Given the description of an element on the screen output the (x, y) to click on. 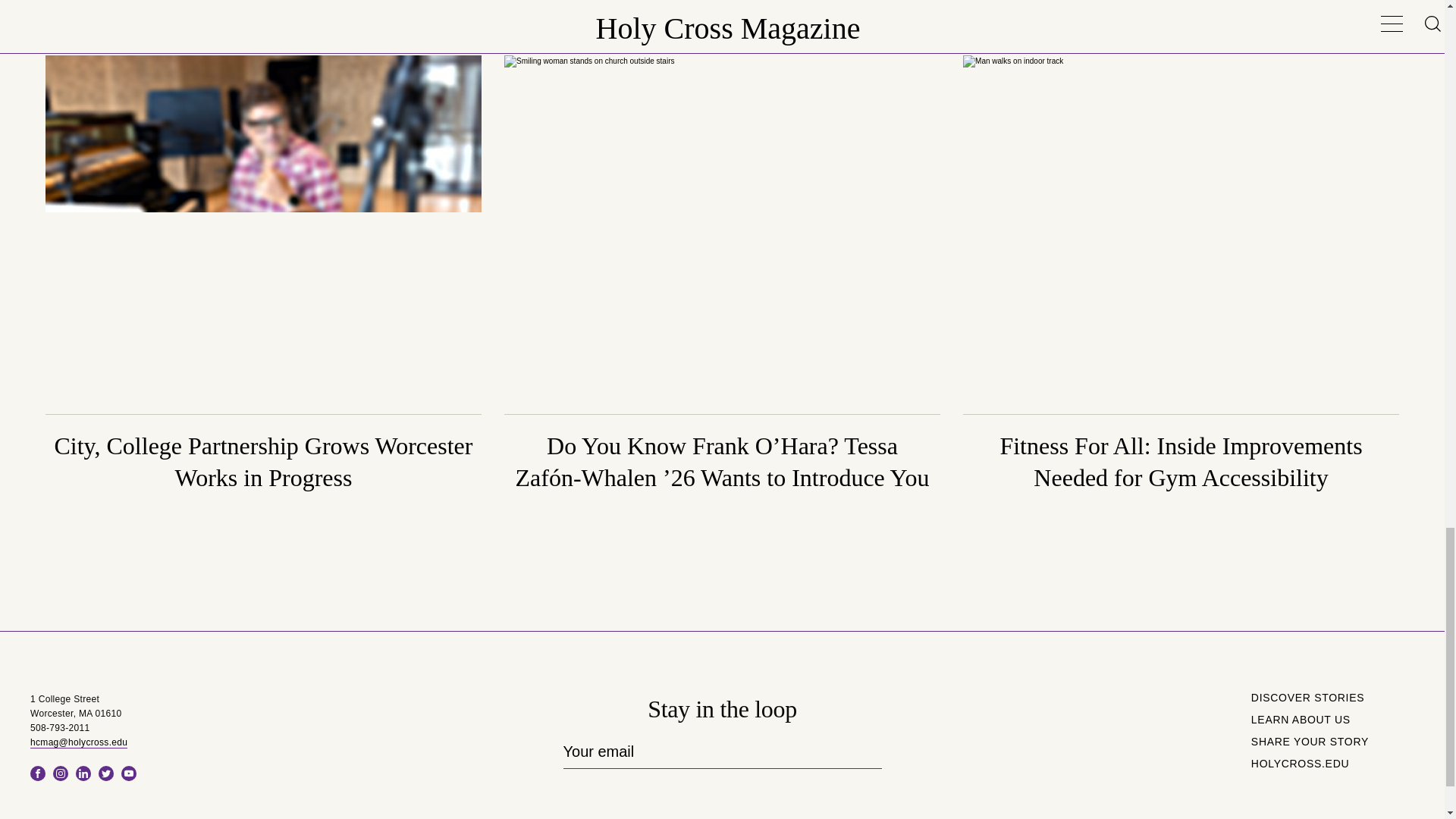
Instagram (60, 773)
LinkedIn (82, 773)
VIEW ALL STORIES (1346, 7)
Facebook (37, 773)
